Given the description of an element on the screen output the (x, y) to click on. 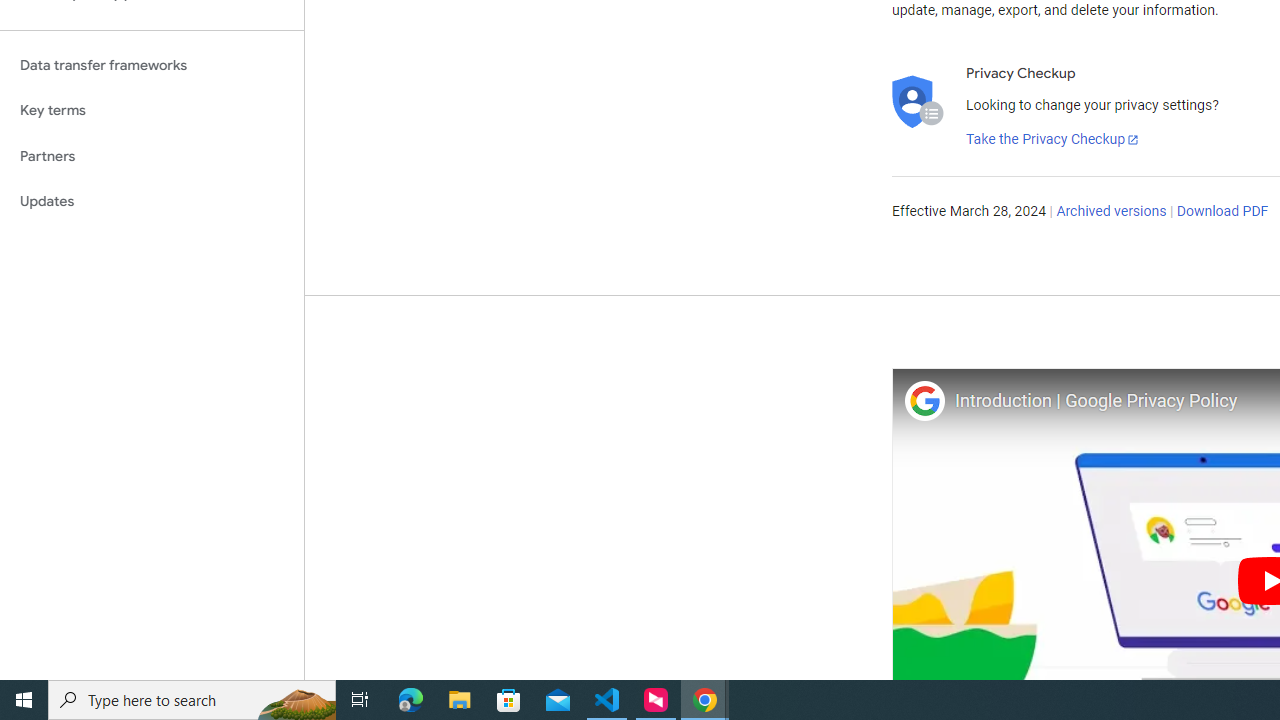
Take the Privacy Checkup (1053, 140)
Key terms (152, 110)
Photo image of Google (924, 400)
Archived versions (1111, 212)
Data transfer frameworks (152, 65)
Partners (152, 156)
Download PDF (1222, 212)
